Given the description of an element on the screen output the (x, y) to click on. 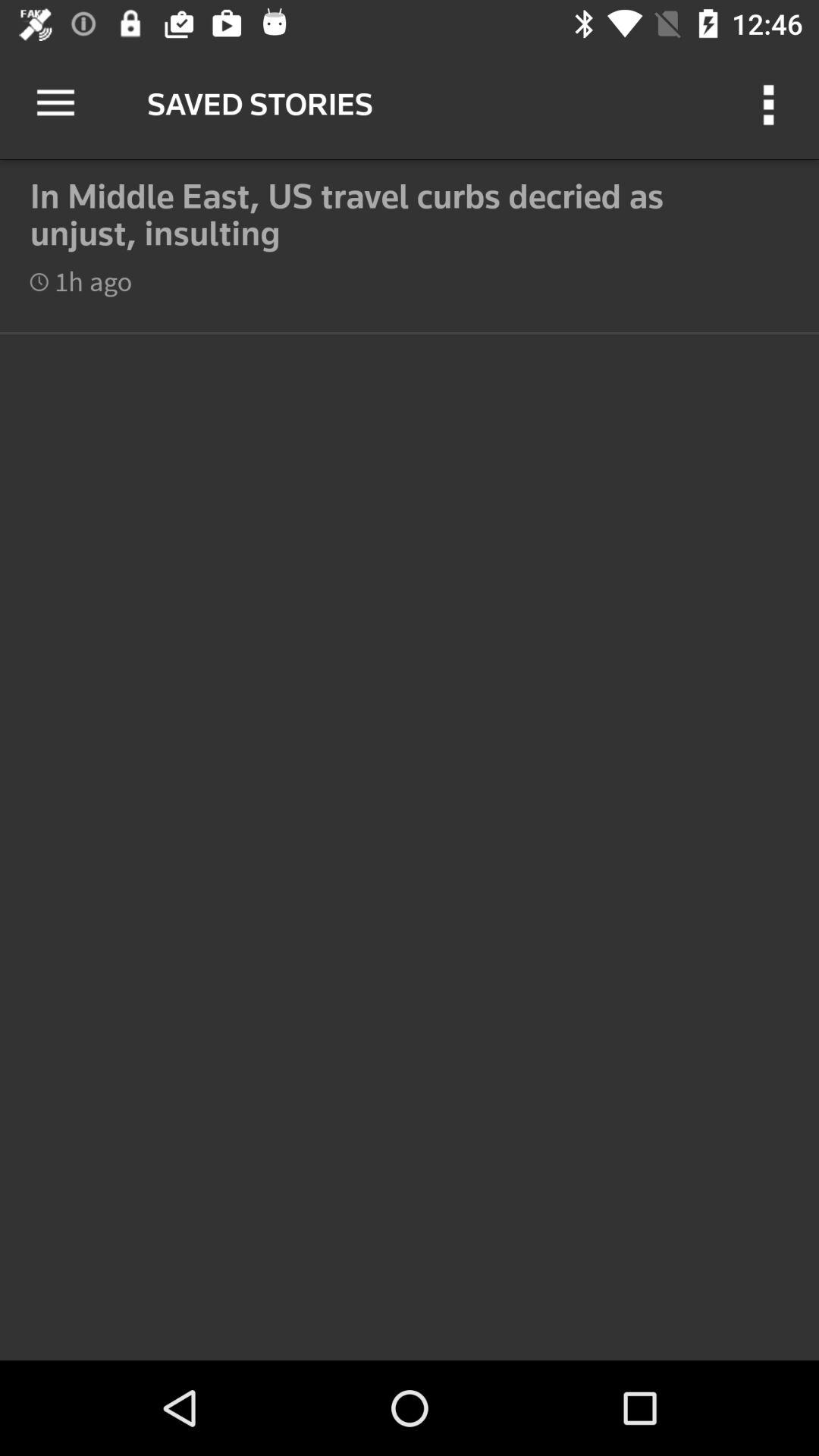
click the icon next to the saved stories icon (771, 103)
